Given the description of an element on the screen output the (x, y) to click on. 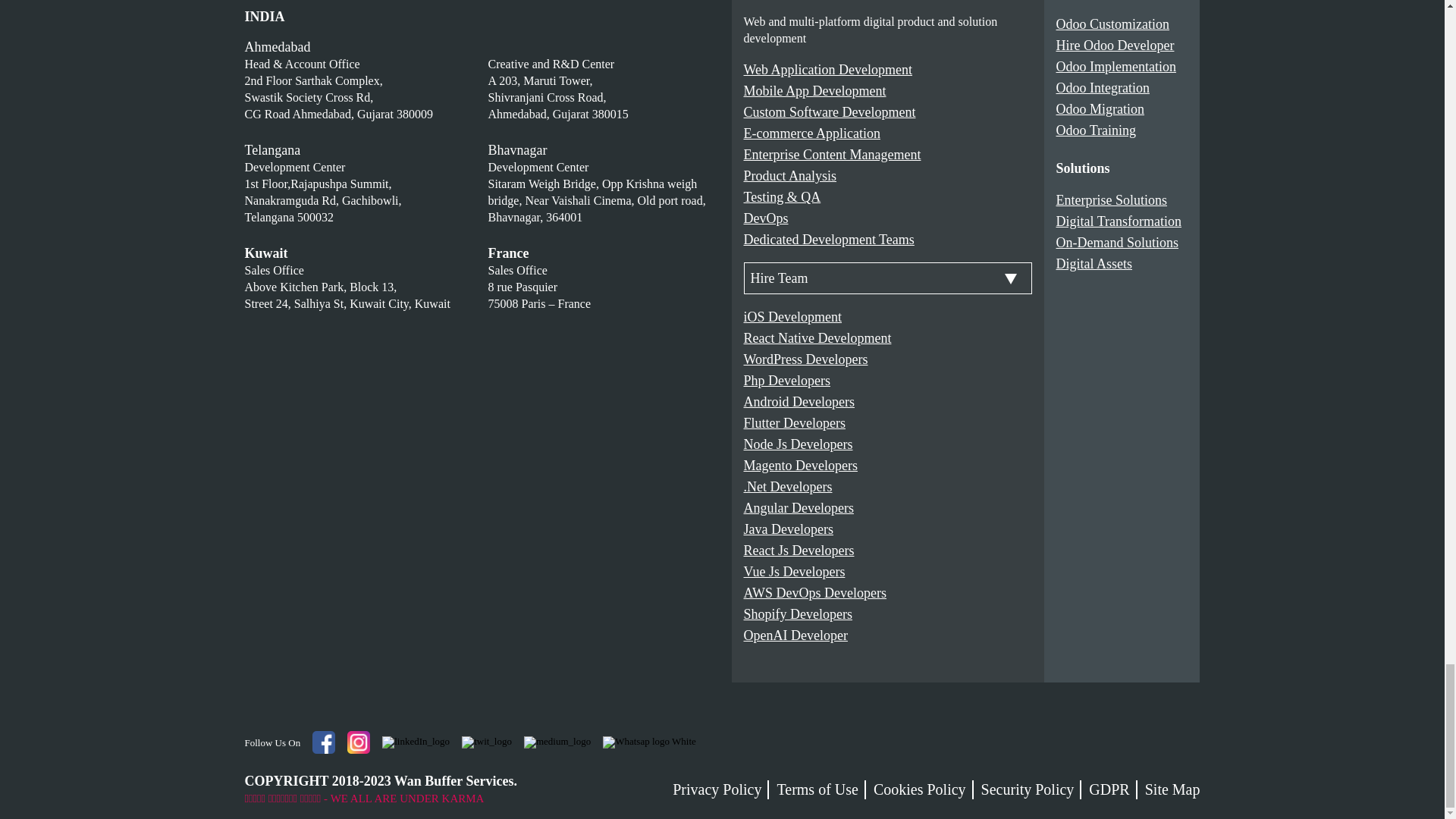
Enterprise Content Management (831, 154)
Node Js Developers (796, 444)
Medium - Wanbuffer Services (557, 742)
Twitter - Wanbuffer Services (486, 742)
Custom Software Development (828, 111)
Android Developers (797, 401)
Magento Developers (799, 465)
iOS Development (791, 316)
WordPress Developers (804, 359)
Facebook - Wanbuffer Services (323, 742)
